Given the description of an element on the screen output the (x, y) to click on. 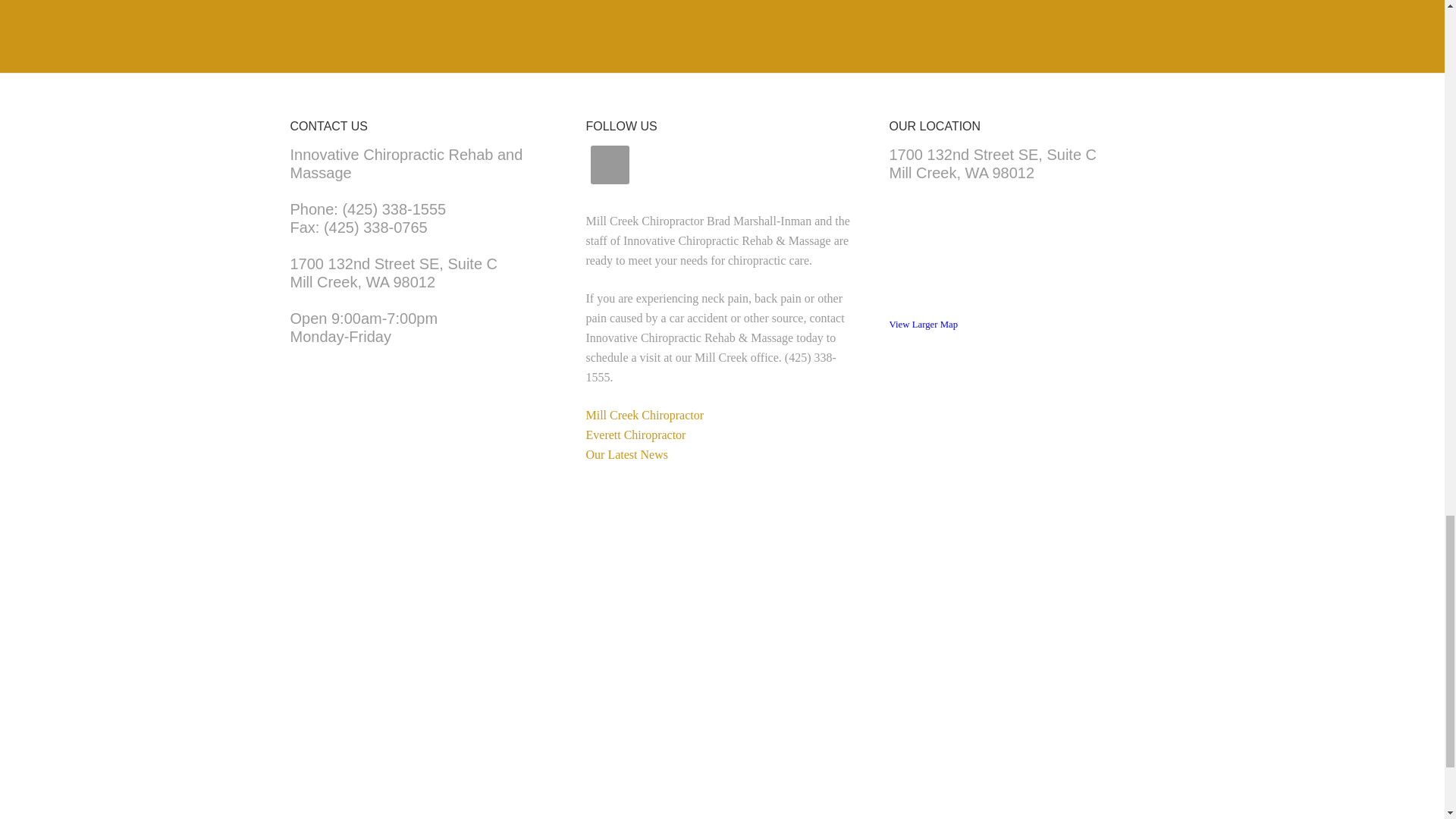
View Larger Map (923, 324)
Mill Creek Chiropractor (393, 272)
Everett Chiropractor (644, 414)
Our Latest News (635, 434)
